Given the description of an element on the screen output the (x, y) to click on. 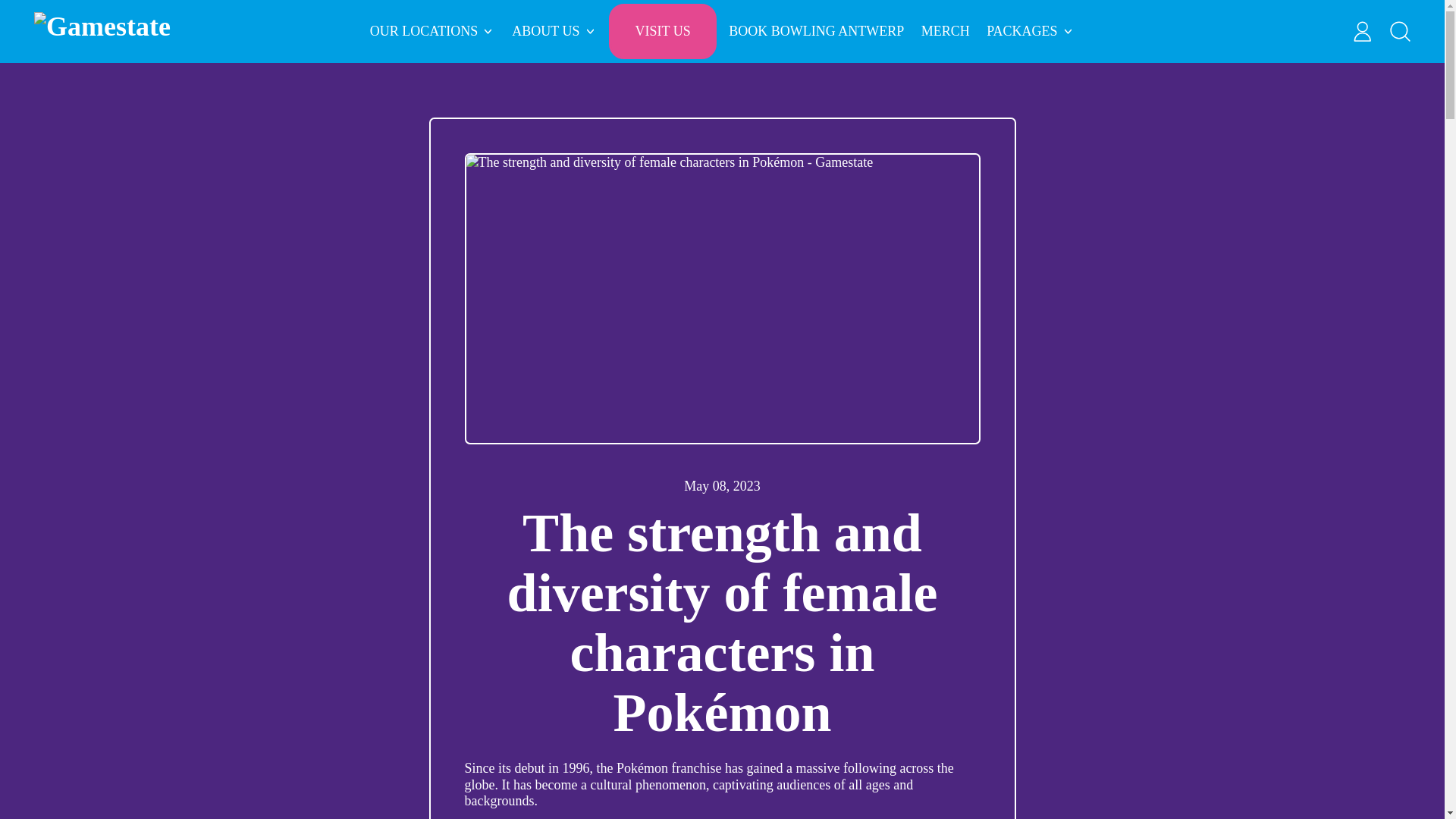
VISIT US (662, 30)
BOOK BOWLING ANTWERP (816, 30)
ABOUT US (554, 30)
Search our site (1400, 31)
PACKAGES (1030, 30)
OUR LOCATIONS (432, 30)
Log in (1362, 31)
MERCH (945, 30)
